Given the description of an element on the screen output the (x, y) to click on. 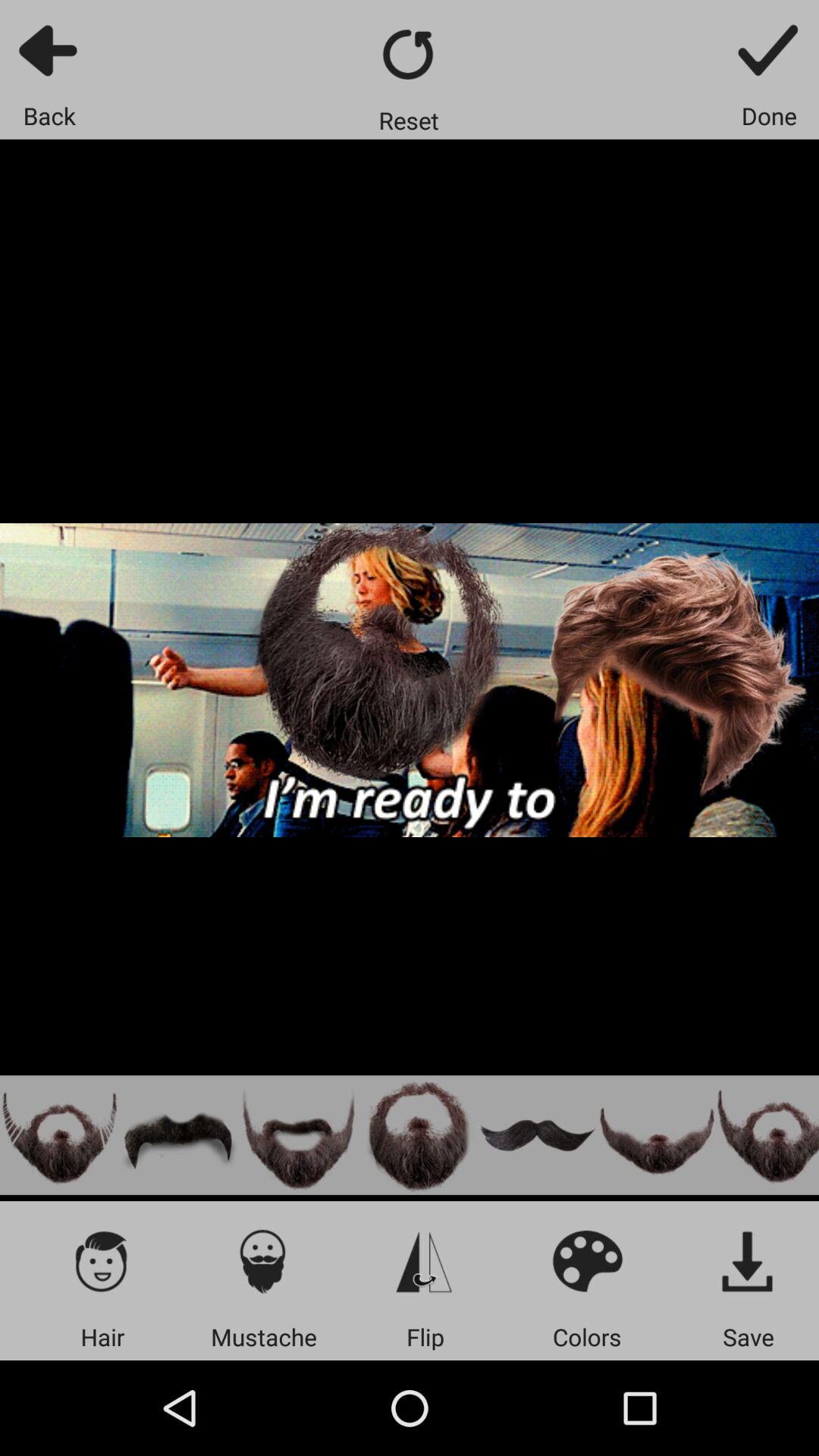
go back (49, 49)
